Given the description of an element on the screen output the (x, y) to click on. 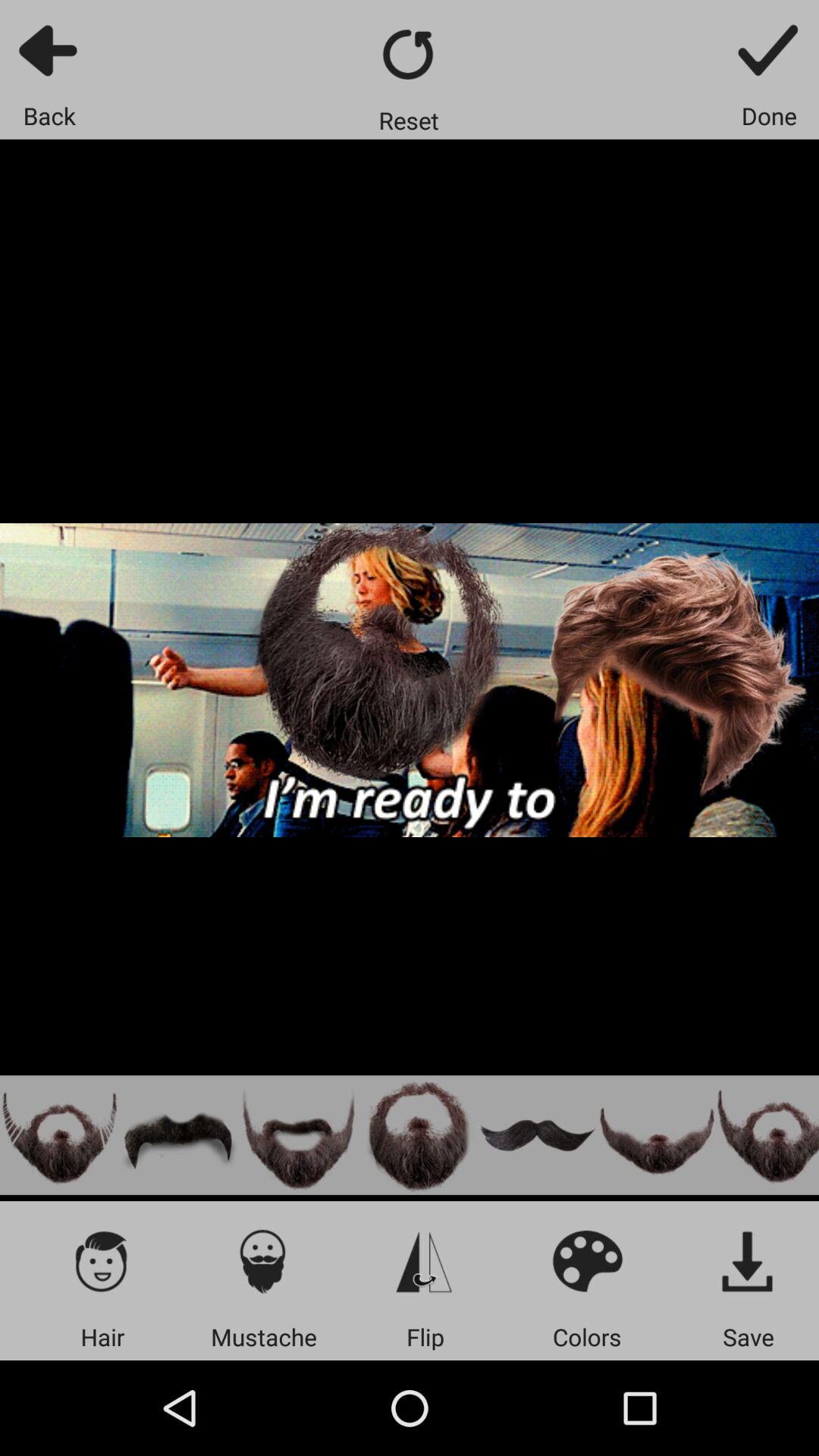
go back (49, 49)
